Given the description of an element on the screen output the (x, y) to click on. 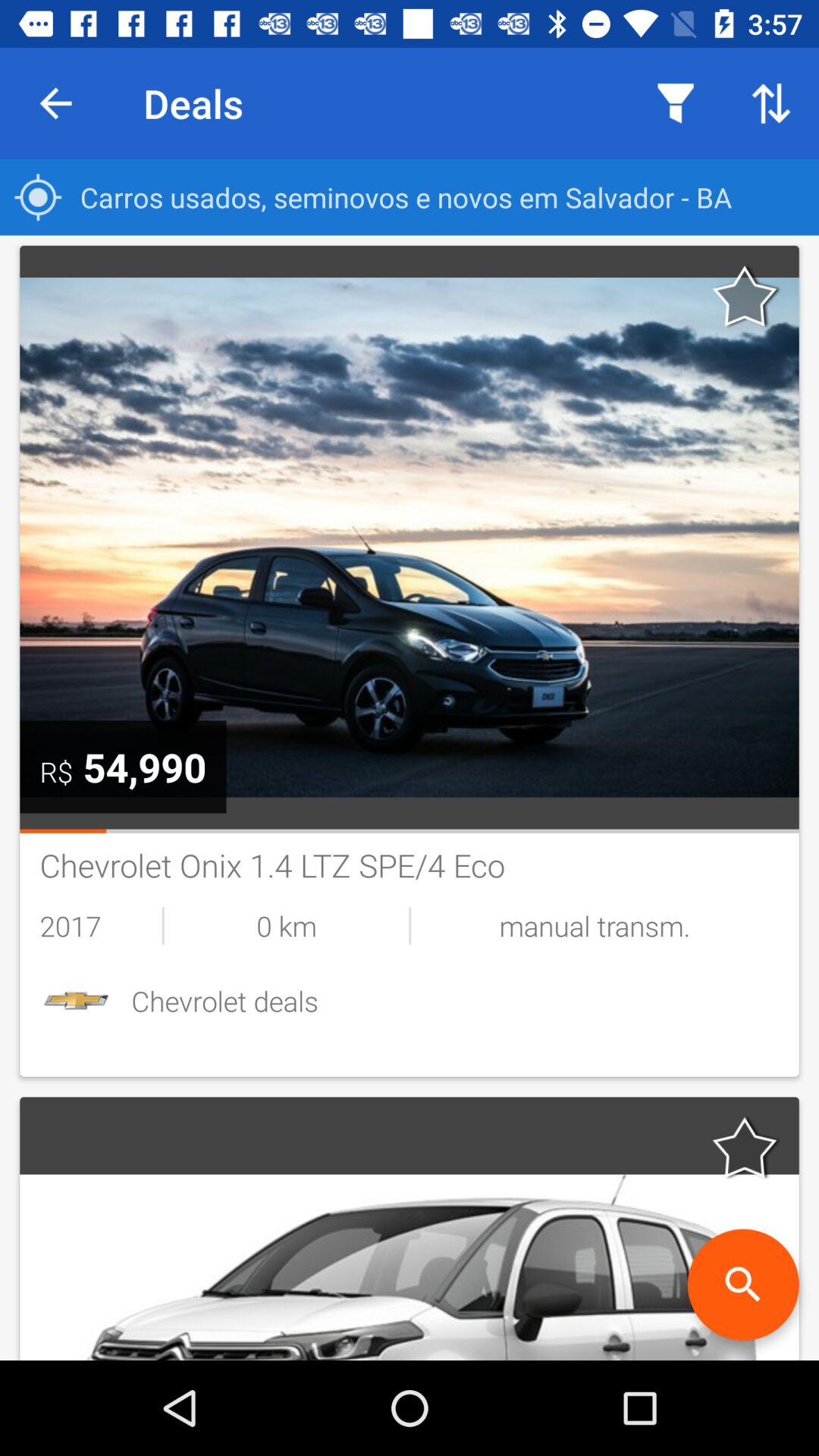
save as favorite (745, 1147)
